Given the description of an element on the screen output the (x, y) to click on. 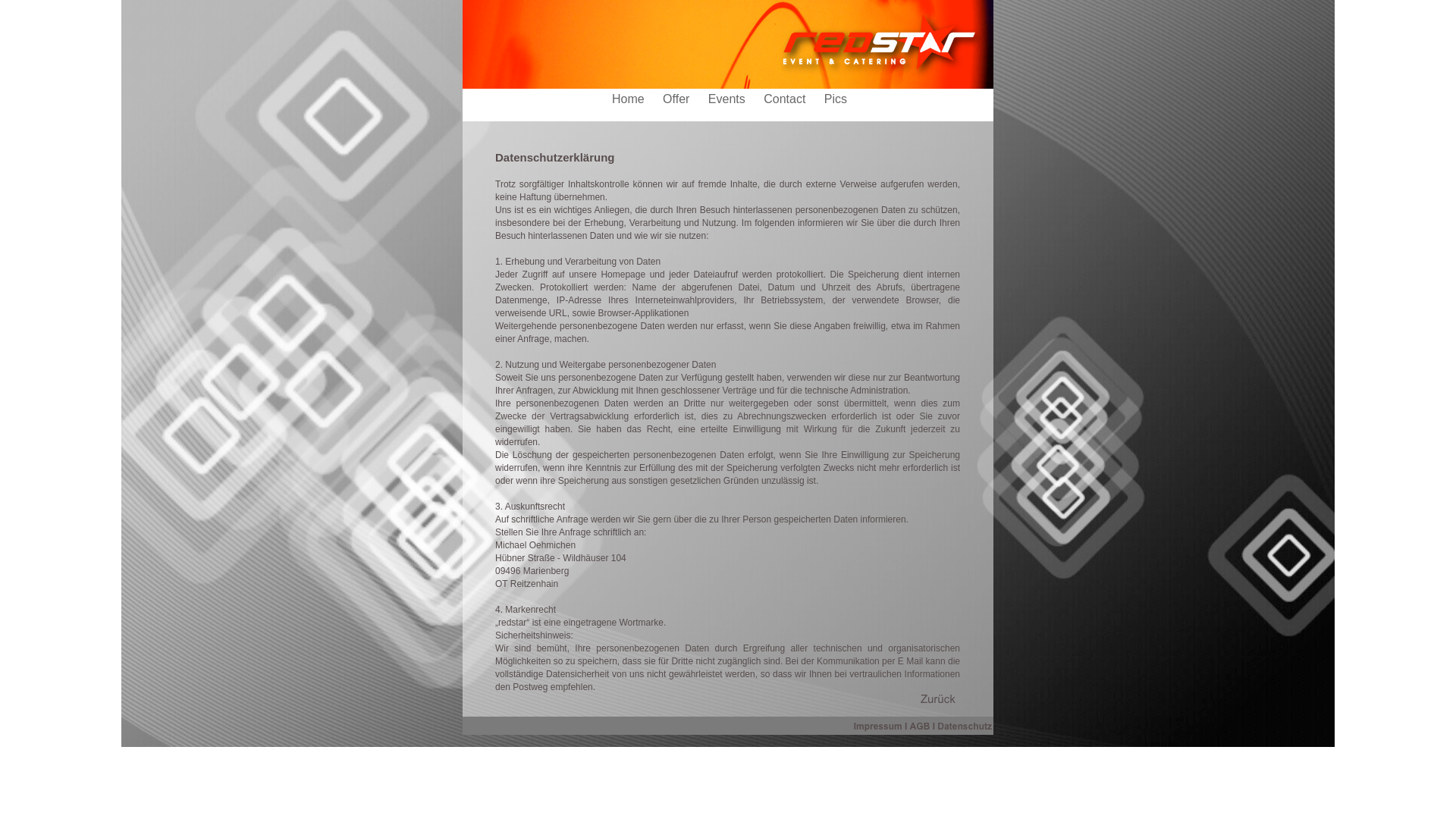
Offer Element type: text (677, 98)
Pics Element type: text (835, 98)
Contact Element type: text (786, 98)
Home Element type: text (629, 98)
Events Element type: text (728, 98)
